Given the description of an element on the screen output the (x, y) to click on. 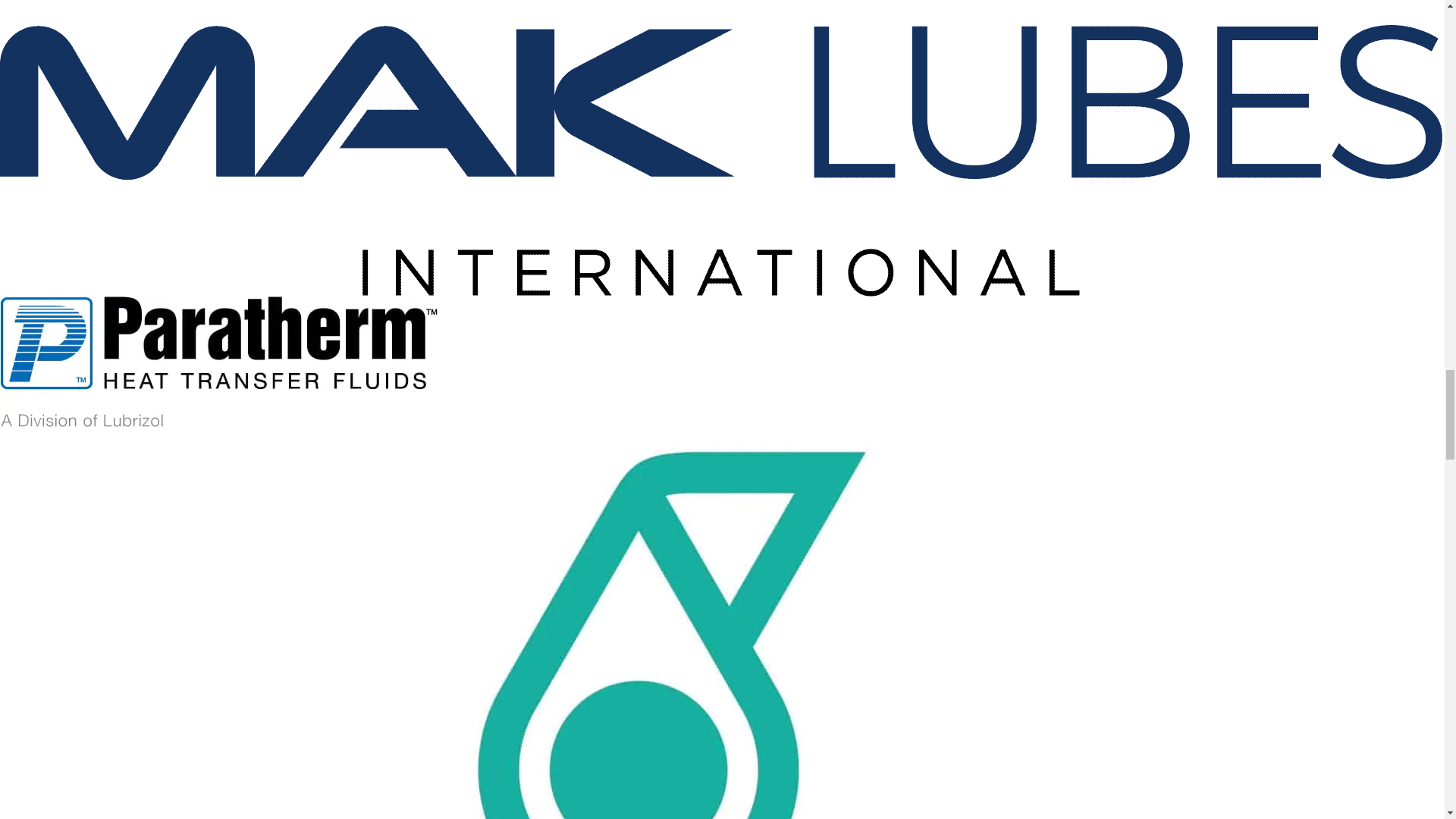
Paratherm (219, 363)
